Given the description of an element on the screen output the (x, y) to click on. 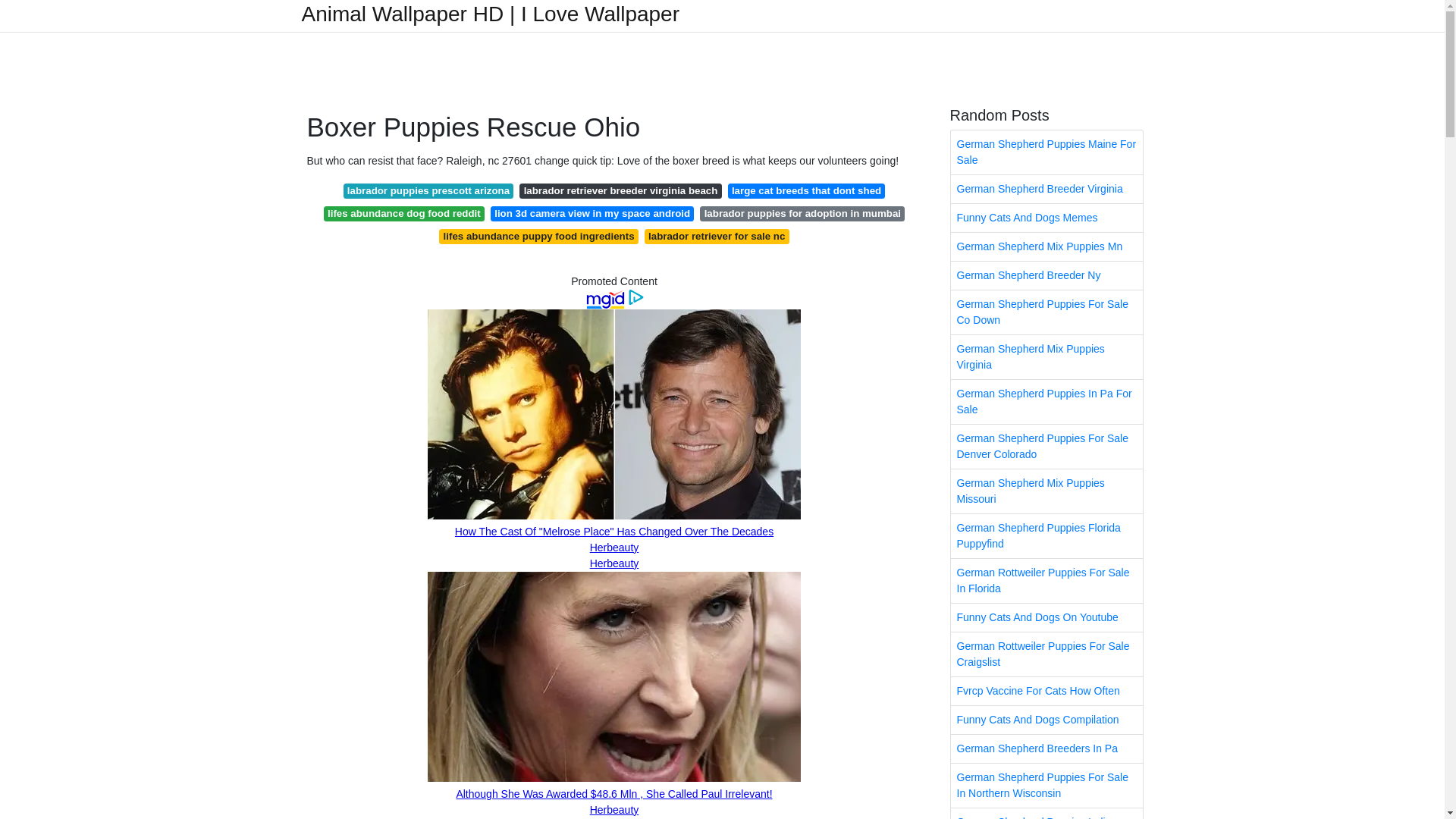
large cat breeds that dont shed (806, 191)
German Shepherd Puppies For Sale Denver Colorado (1046, 446)
lifes abundance dog food reddit (403, 213)
German Shepherd Puppies For Sale Co Down (1046, 312)
German Shepherd Puppies Maine For Sale (1046, 152)
labrador puppies for adoption in mumbai (802, 213)
German Shepherd Breeder Virginia (1046, 189)
German Shepherd Breeder Ny (1046, 275)
labrador retriever for sale nc (717, 236)
Funny Cats And Dogs Memes (1046, 217)
German Shepherd Puppies In Pa For Sale (1046, 402)
lion 3d camera view in my space android (592, 213)
labrador retriever breeder virginia beach (619, 191)
German Shepherd Mix Puppies Virginia (1046, 356)
German Shepherd Mix Puppies Mn (1046, 246)
